Given the description of an element on the screen output the (x, y) to click on. 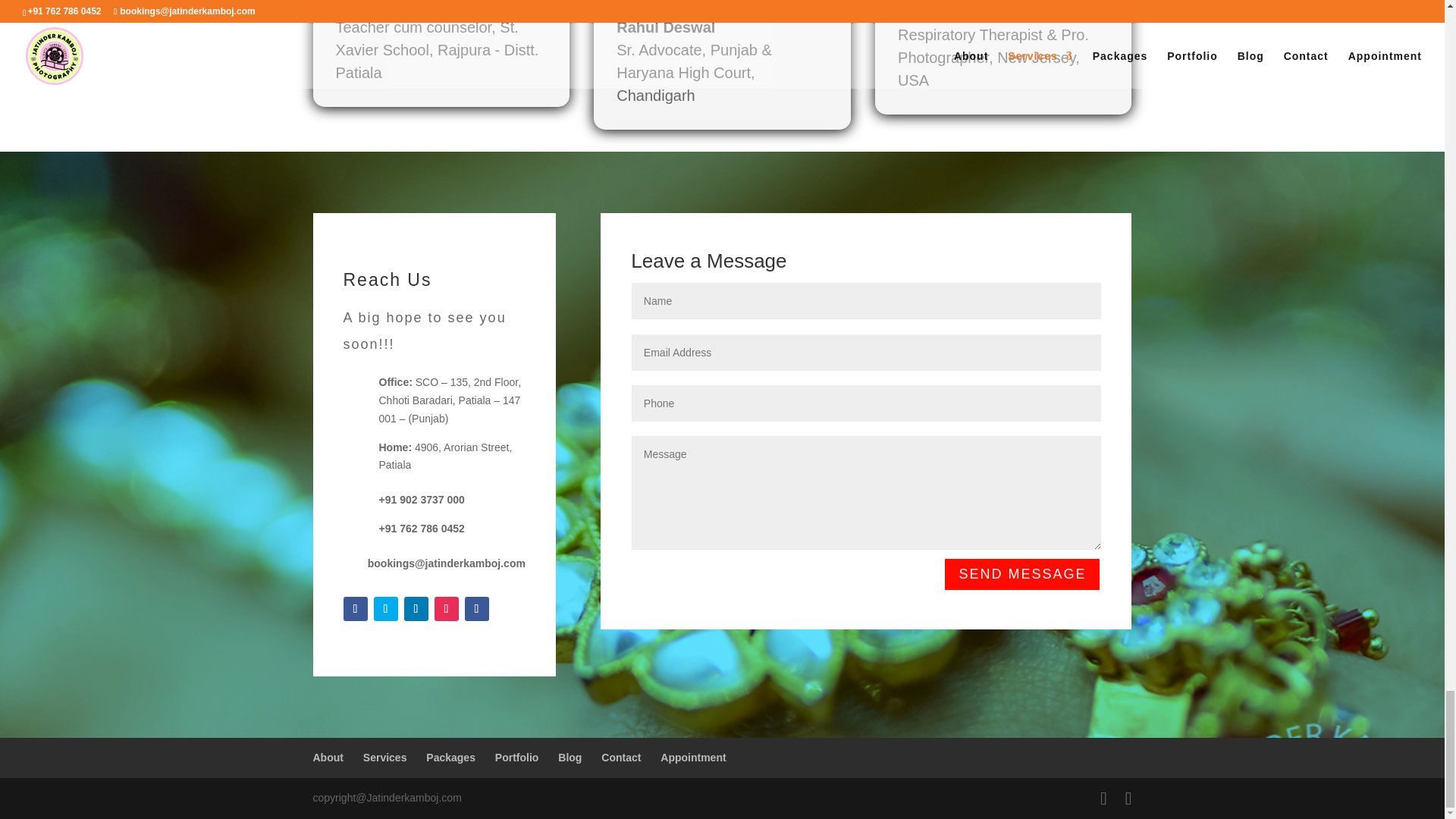
Follow on Twitter (384, 608)
Follow on Facebook (354, 608)
Follow on LinkedIn (415, 608)
